Given the description of an element on the screen output the (x, y) to click on. 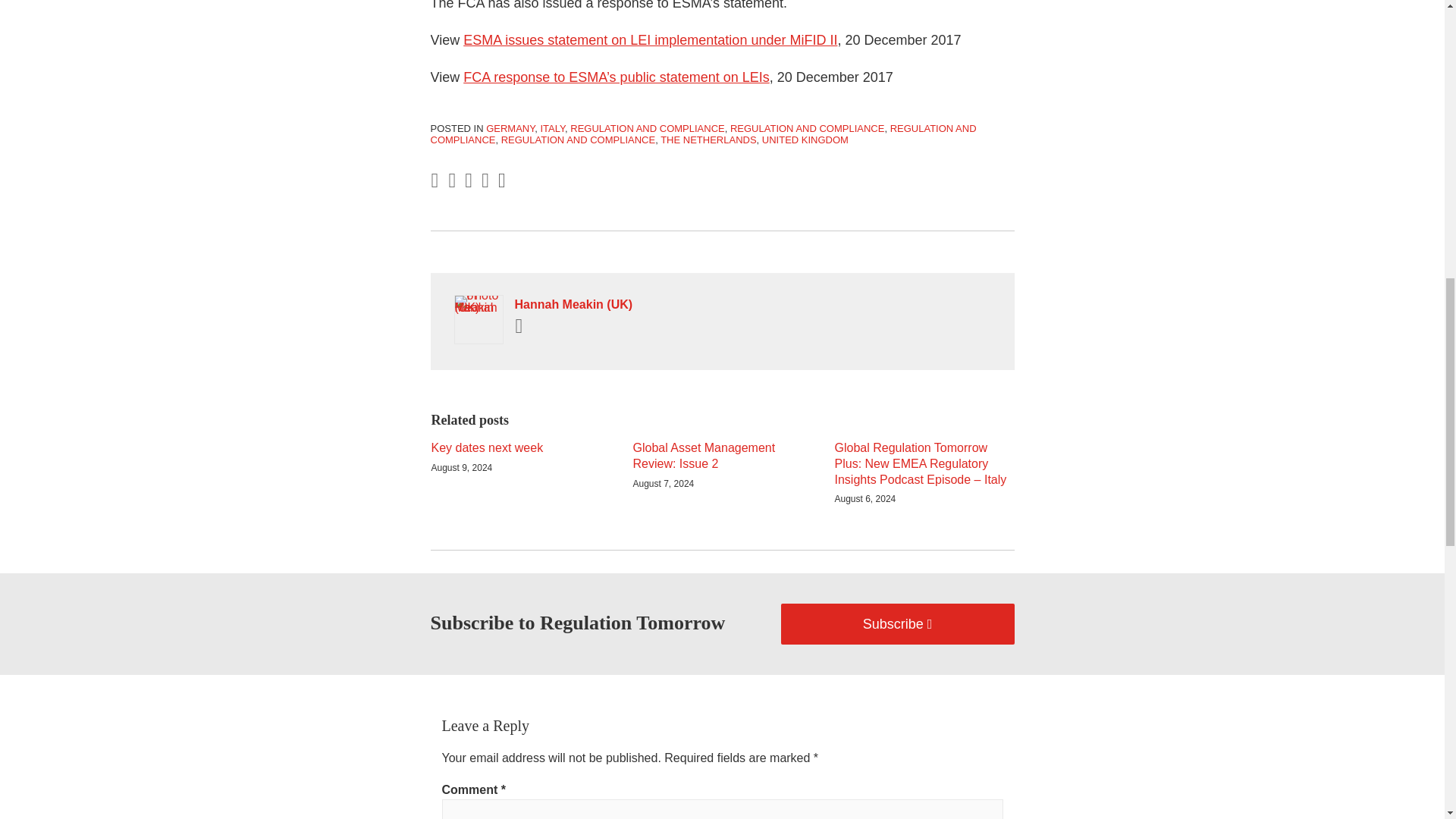
ITALY (552, 128)
ESMA issues statement on LEI implementation under MiFID II (650, 39)
REGULATION AND COMPLIANCE (703, 134)
THE NETHERLANDS (708, 139)
REGULATION AND COMPLIANCE (646, 128)
GERMANY (510, 128)
REGULATION AND COMPLIANCE (577, 139)
REGULATION AND COMPLIANCE (806, 128)
